Given the description of an element on the screen output the (x, y) to click on. 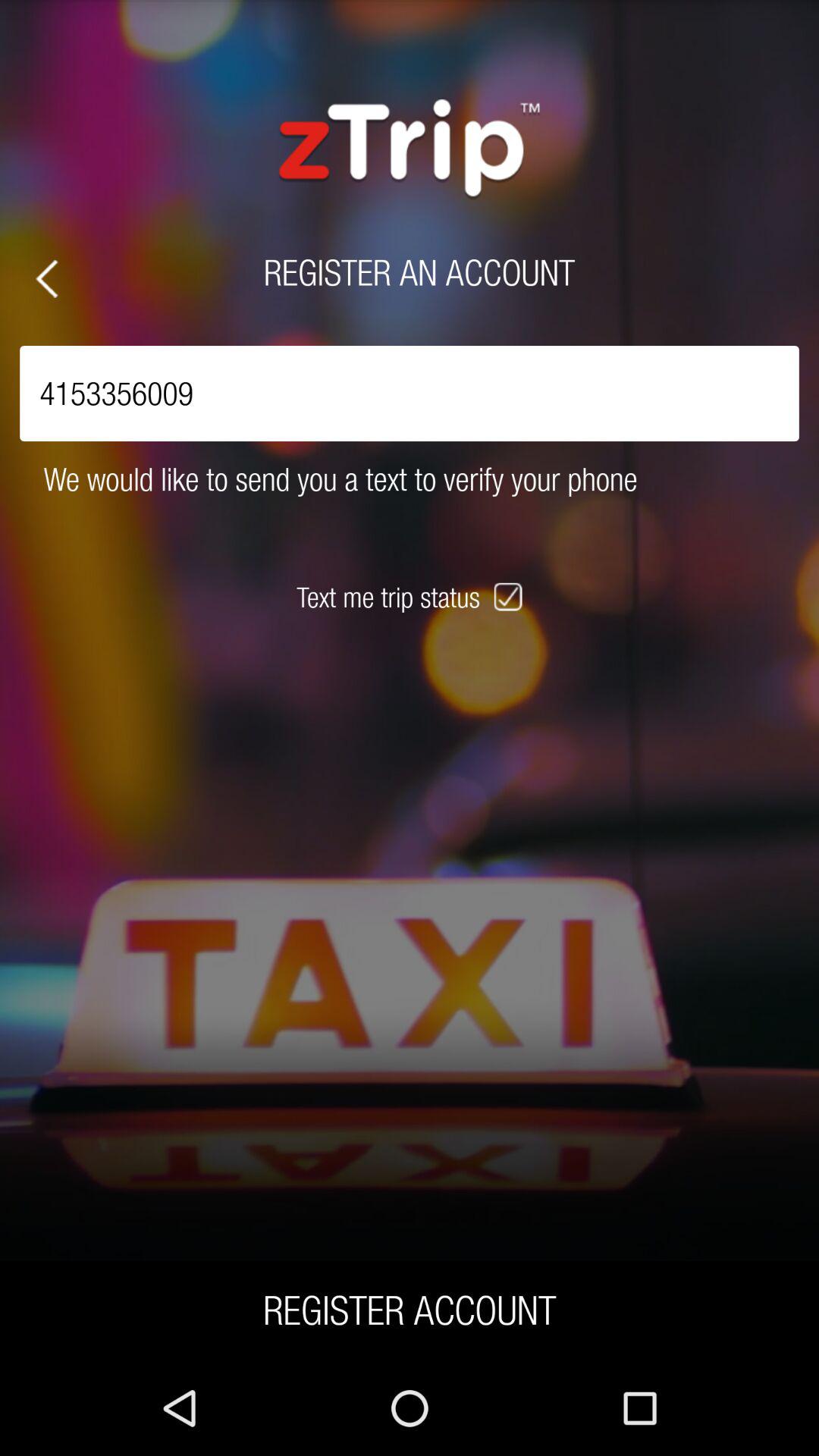
turn off the icon next to text me trip (510, 597)
